Given the description of an element on the screen output the (x, y) to click on. 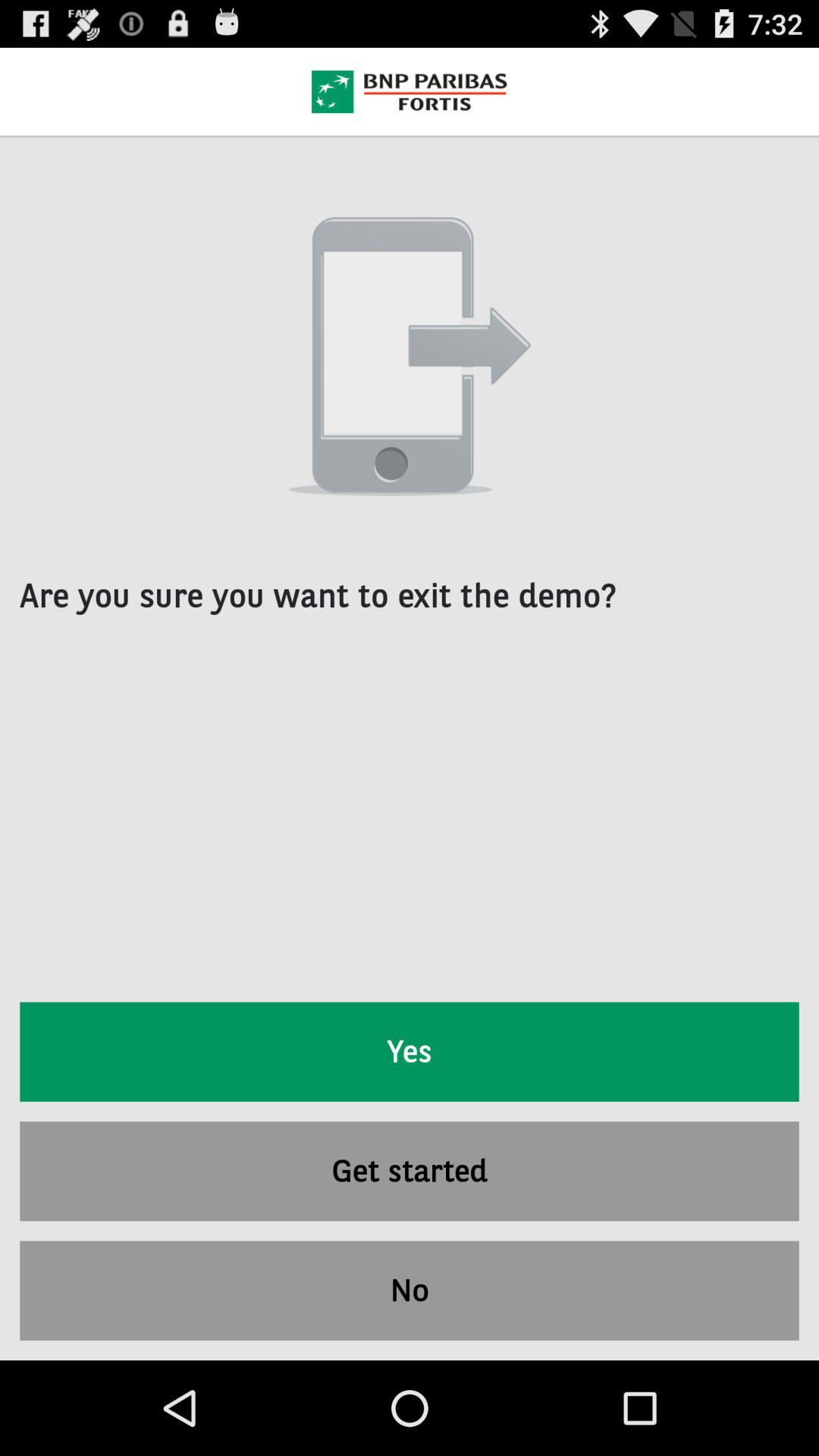
turn off get started (409, 1171)
